Given the description of an element on the screen output the (x, y) to click on. 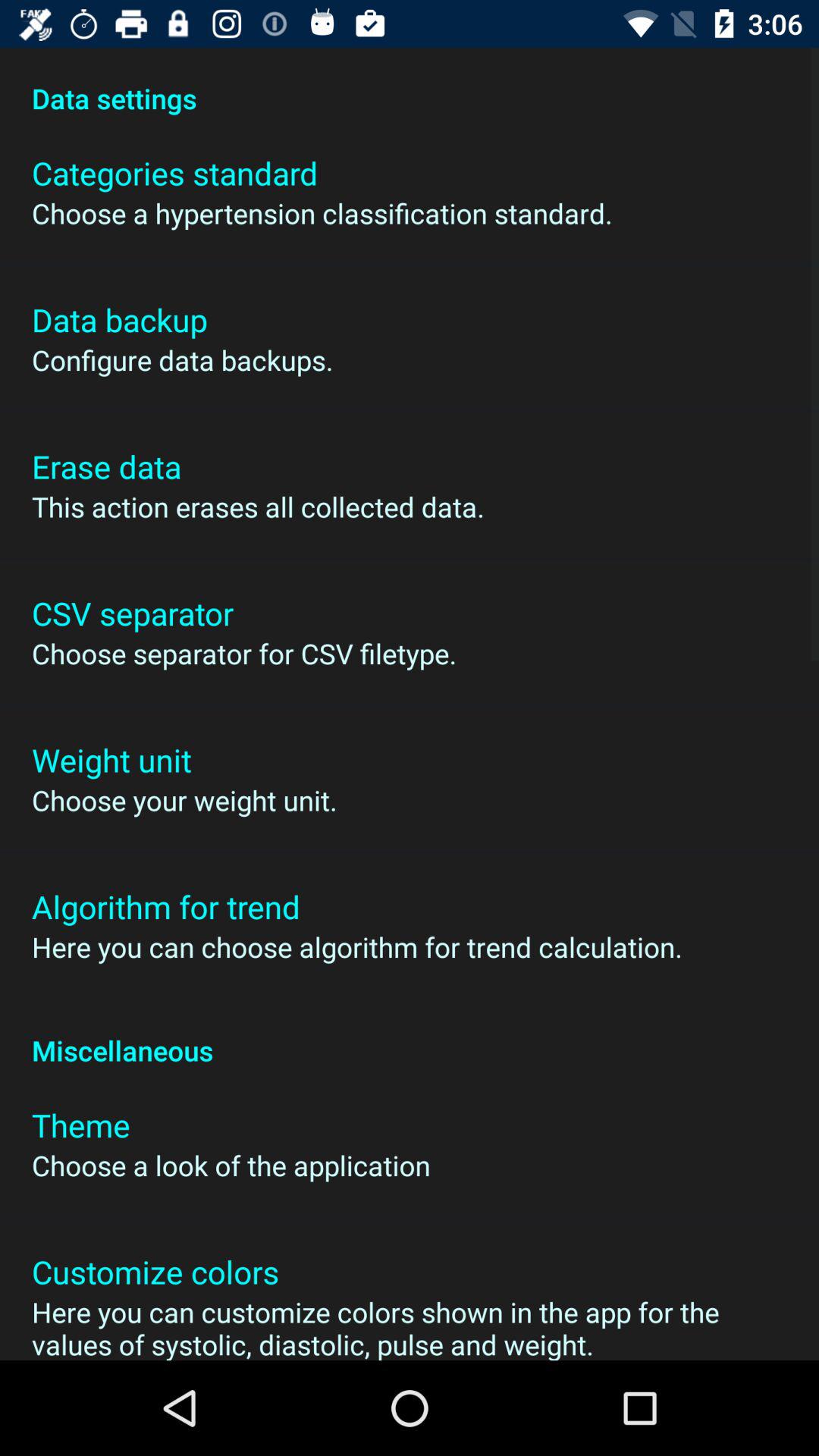
turn off the item below here you can item (409, 1034)
